Given the description of an element on the screen output the (x, y) to click on. 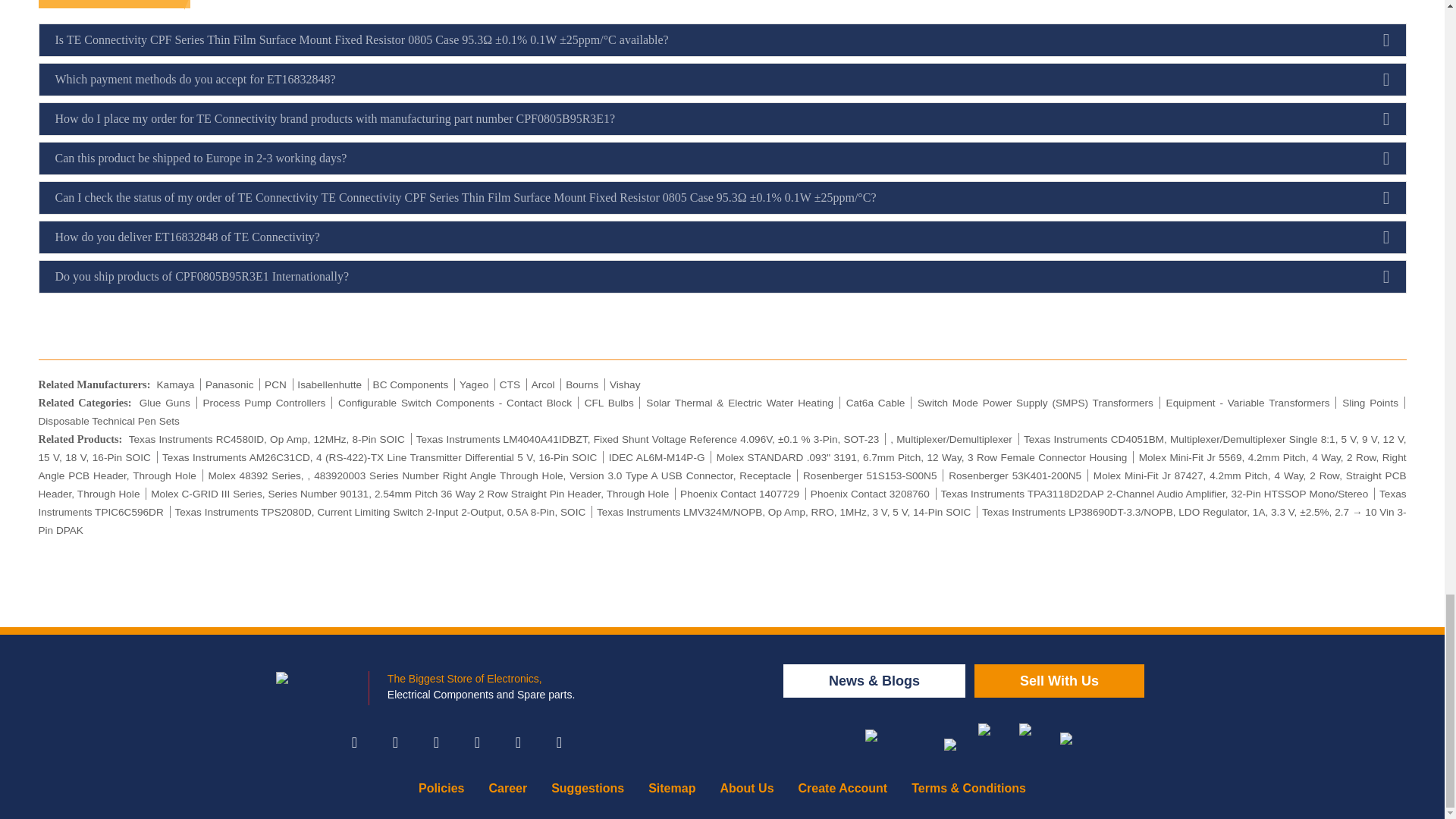
Twitter (394, 742)
Linkedin (477, 742)
Sitemap (671, 788)
About Us (746, 788)
Create Account (842, 788)
Policies (441, 788)
Facebook (353, 742)
Suggestions (587, 788)
Instagram (435, 742)
Career (507, 788)
